Given the description of an element on the screen output the (x, y) to click on. 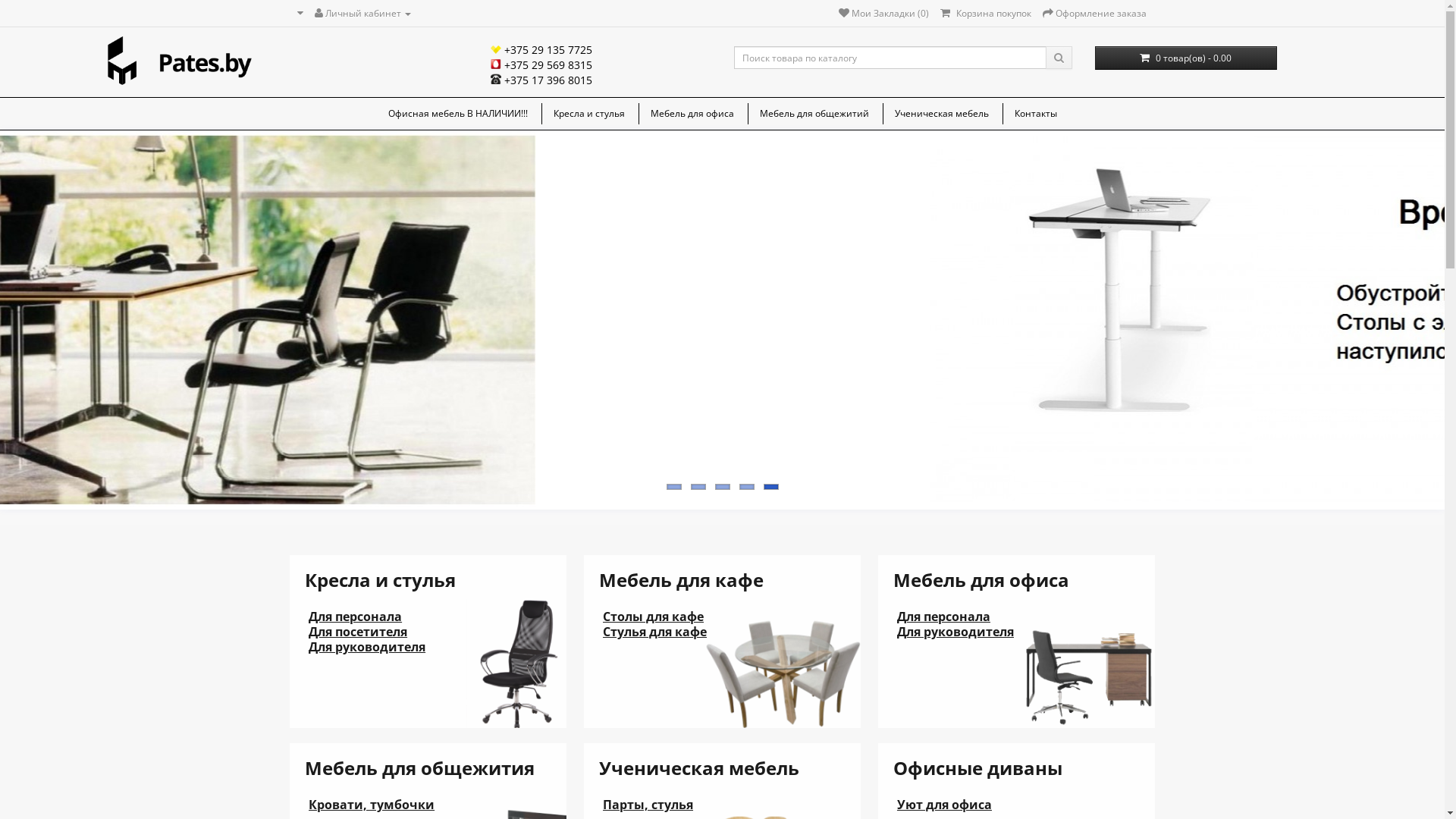
+375 17 396 8015 Element type: text (541, 79)
+375 29 135 7725 Element type: text (541, 49)
+375 29 569 8315 Element type: text (541, 64)
